Given the description of an element on the screen output the (x, y) to click on. 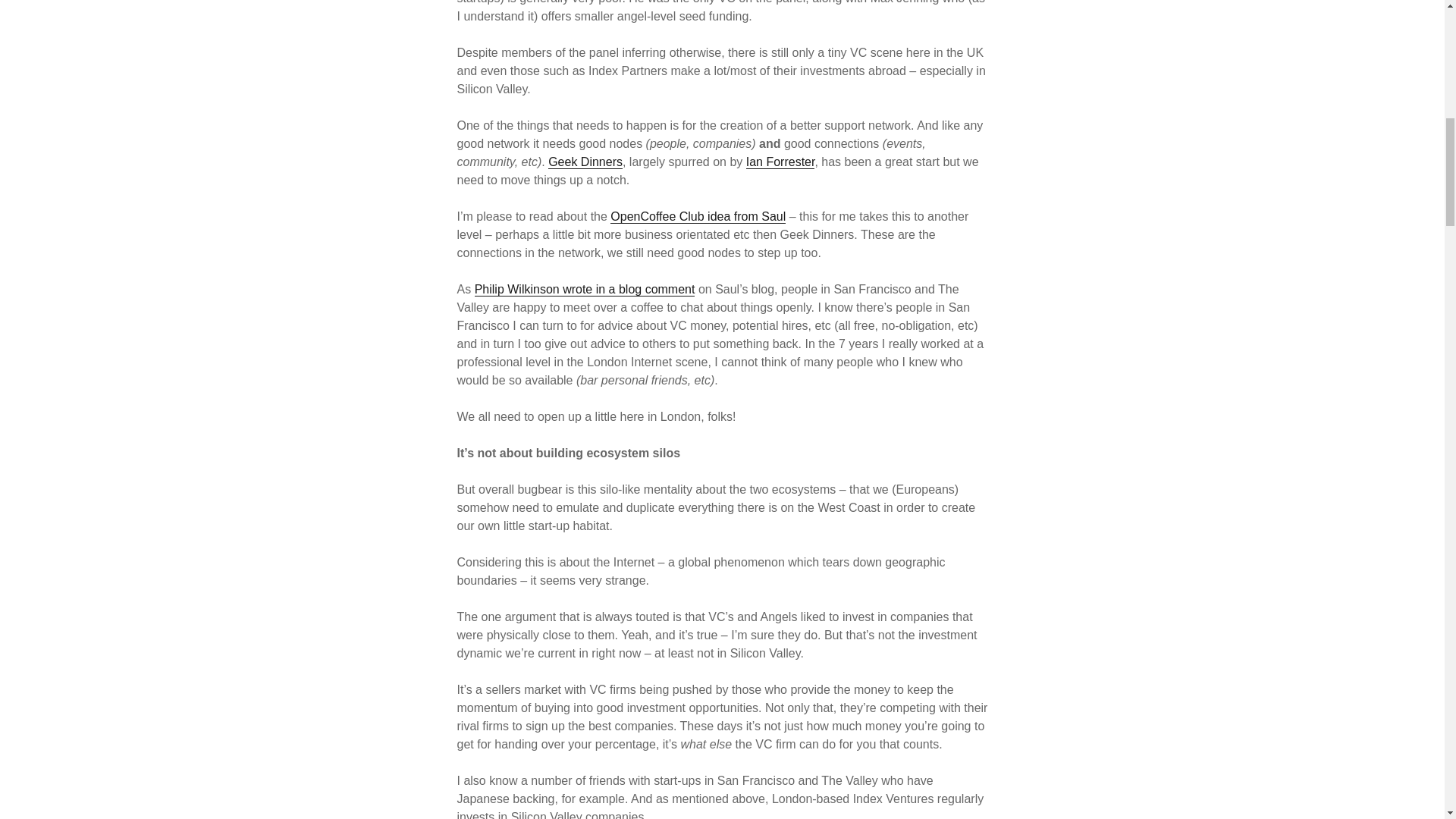
Ian Forrester (780, 161)
Geek Dinners (585, 161)
Philip Wilkinson wrote in a blog comment (584, 289)
OpenCoffee Club idea from Saul (698, 216)
